Given the description of an element on the screen output the (x, y) to click on. 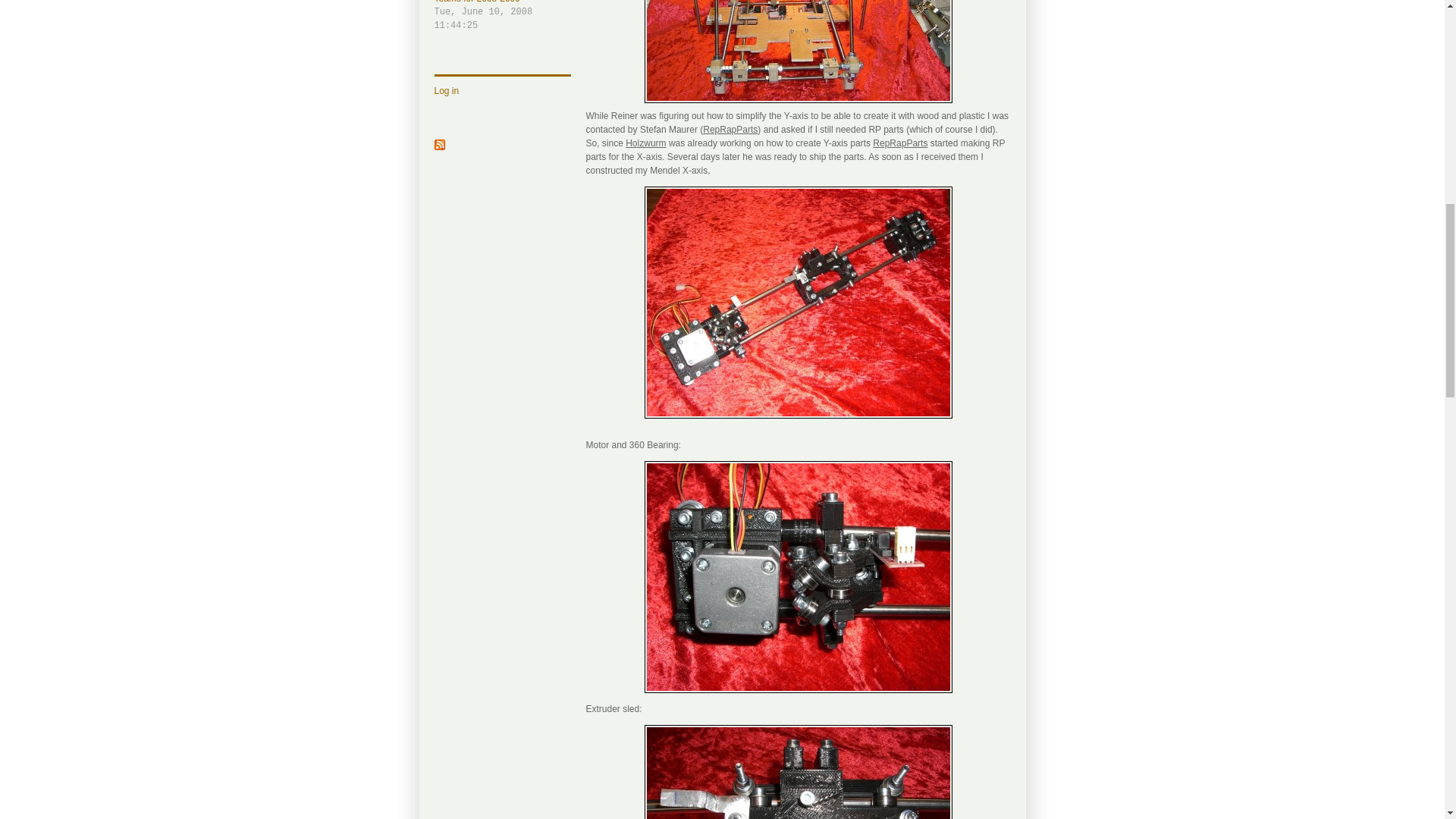
Holzwurm (645, 143)
RSS 2.0 (438, 146)
Log in (445, 90)
RepRapParts (501, 16)
RepRapParts (730, 129)
